Given the description of an element on the screen output the (x, y) to click on. 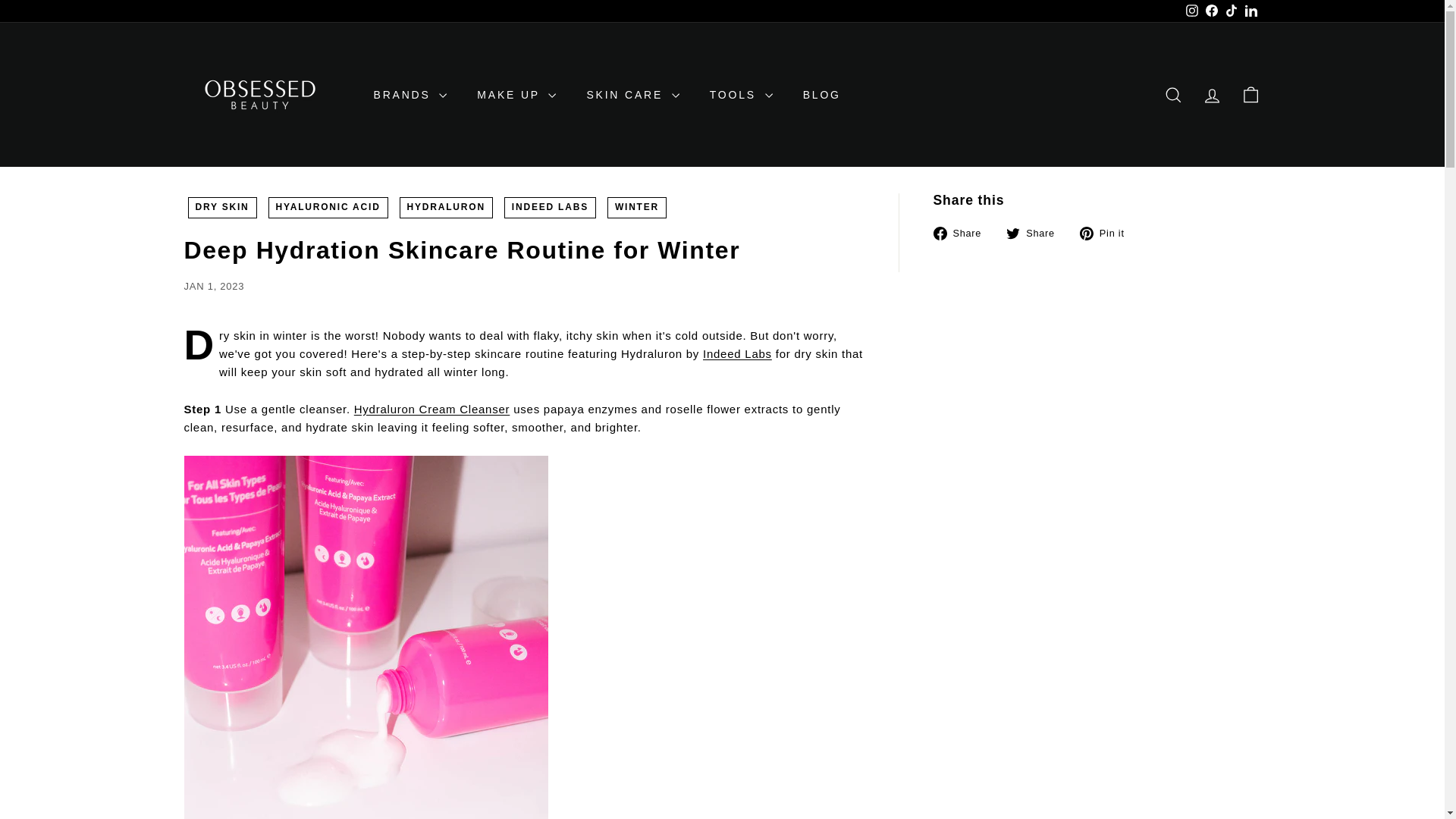
Indeed Labs (737, 353)
Hydraluron Cream Cleanser (432, 408)
twitter (1013, 233)
BLOG (821, 94)
instagram (1192, 10)
